Given the description of an element on the screen output the (x, y) to click on. 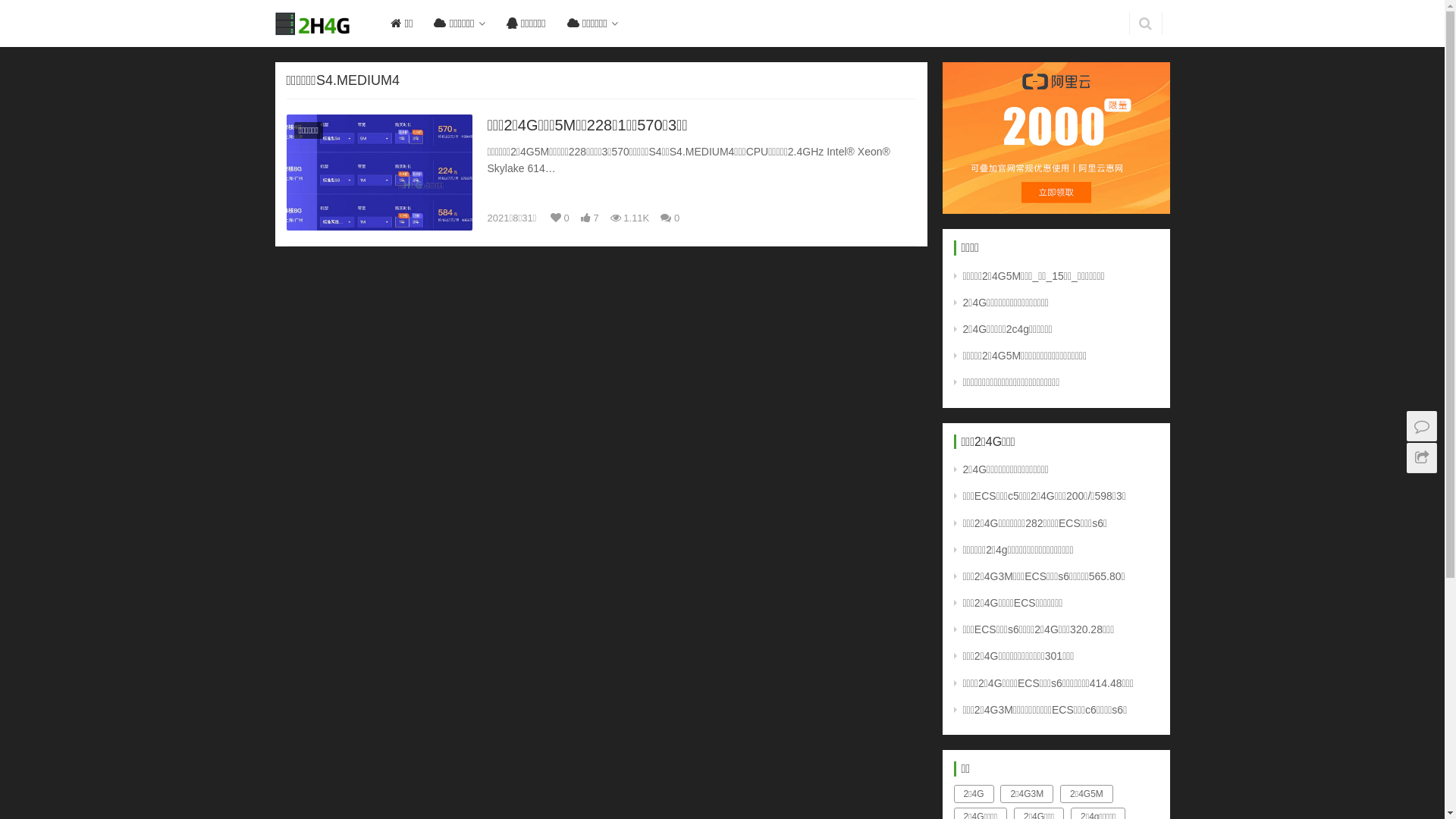
0 Element type: text (669, 218)
